Given the description of an element on the screen output the (x, y) to click on. 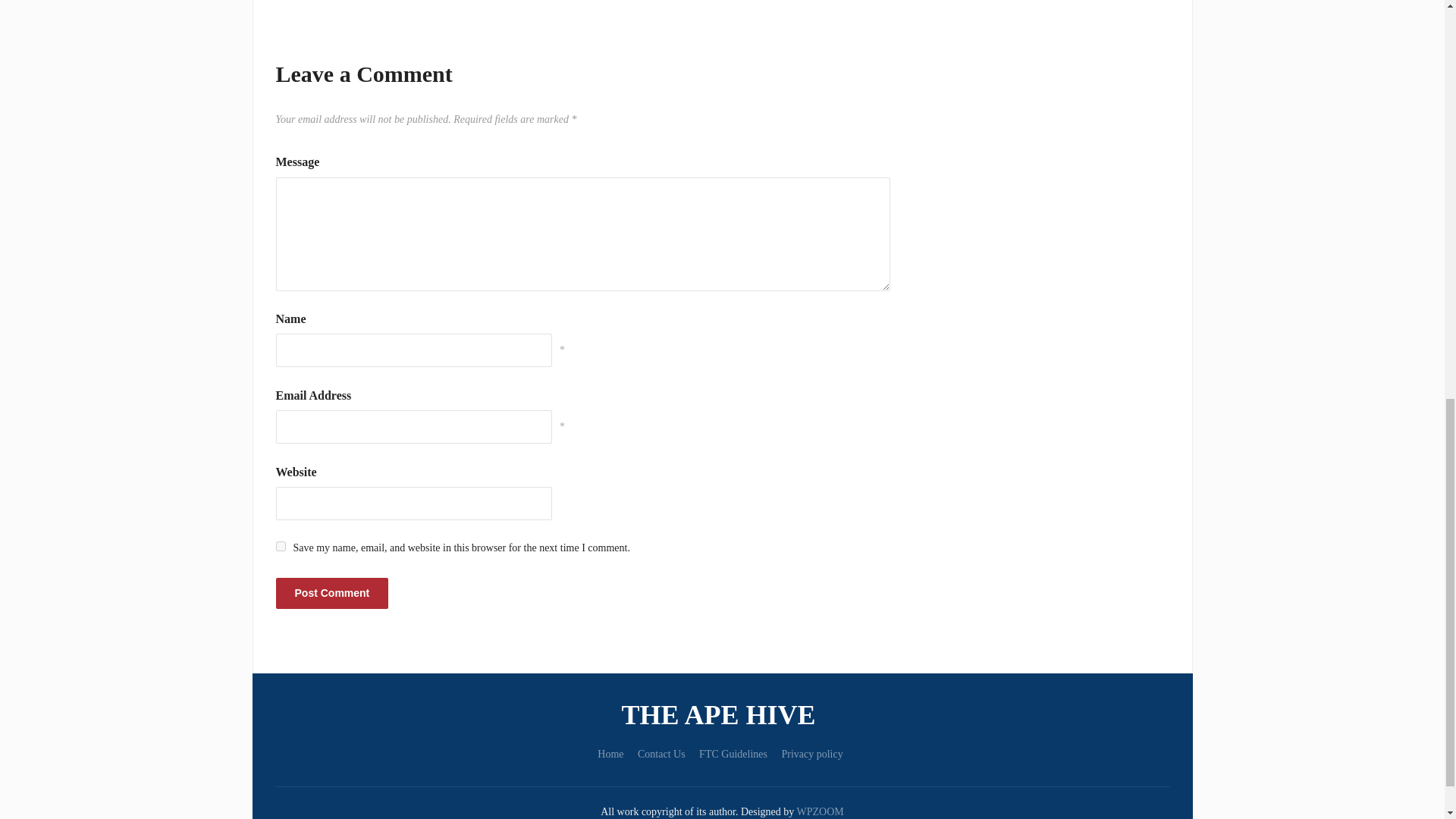
yes (280, 546)
Post Comment (332, 593)
WPZOOM WordPress Themes (820, 811)
THE APE HIVE (721, 714)
Post Comment (332, 593)
Home (609, 754)
Contact Us (661, 754)
